Given the description of an element on the screen output the (x, y) to click on. 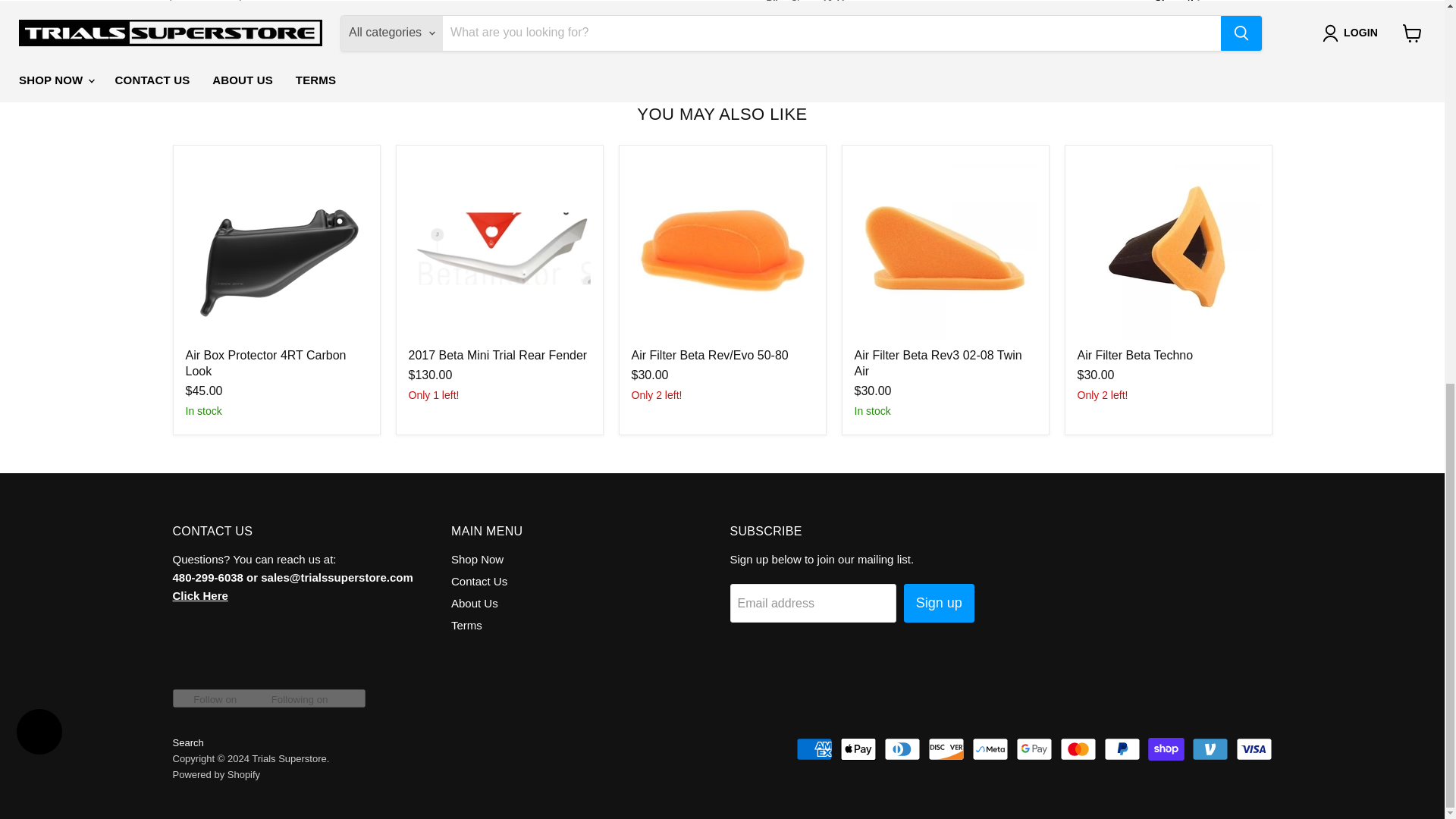
Contact (200, 594)
Meta Pay (990, 748)
Apple Pay (858, 748)
American Express (814, 748)
Discover (945, 748)
Shopify online store chat (38, 20)
Diners Club (901, 748)
